Given the description of an element on the screen output the (x, y) to click on. 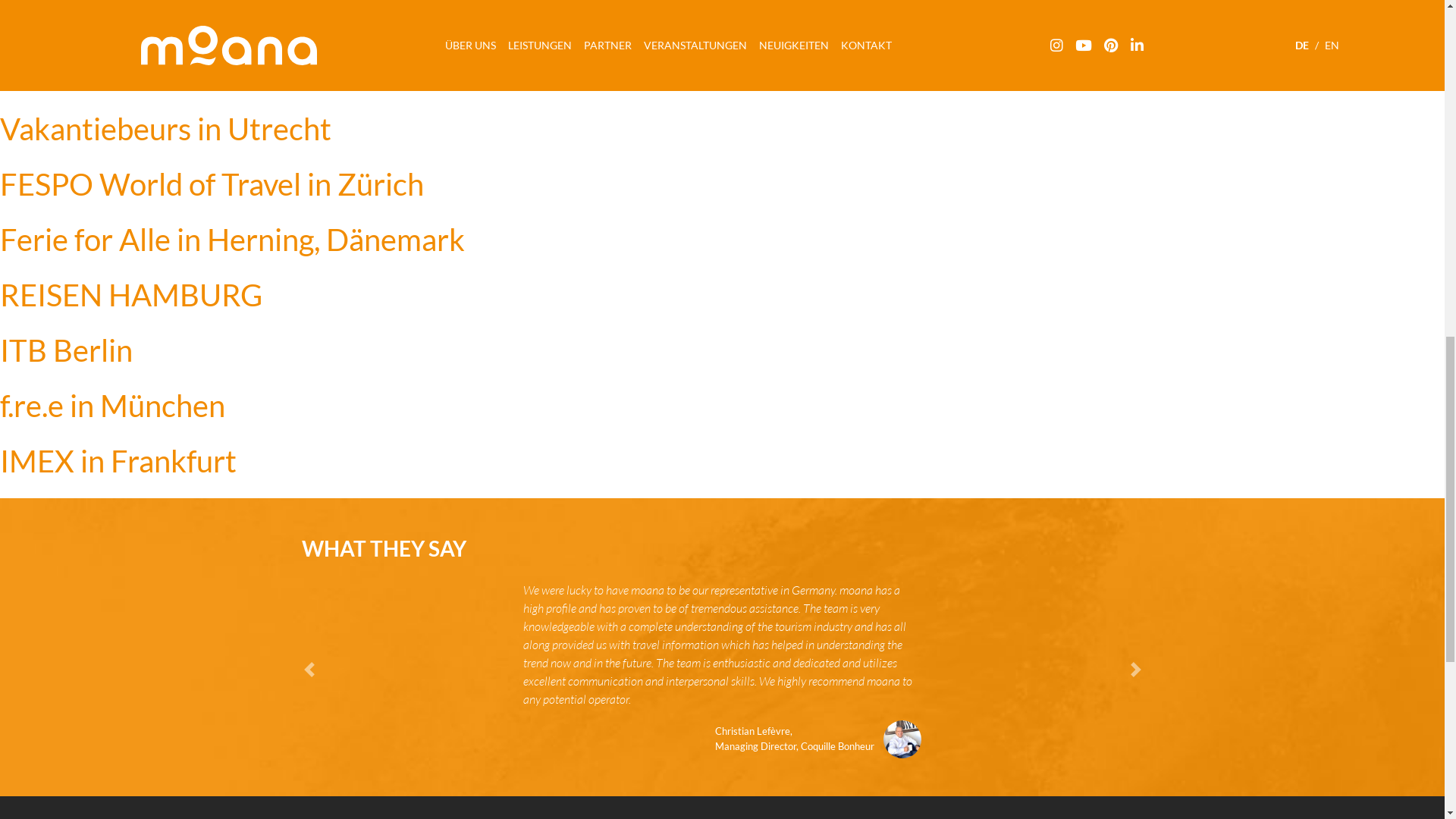
REISEN HAMBURG (131, 294)
Matka Nordic Travel Fair in Helsinki (234, 73)
IMEX in Frankfurt (117, 461)
Vakantiebeurs in Utrecht (165, 128)
Vor (1079, 669)
Ferien-Messe Wien (129, 18)
ITB Berlin (66, 350)
